Given the description of an element on the screen output the (x, y) to click on. 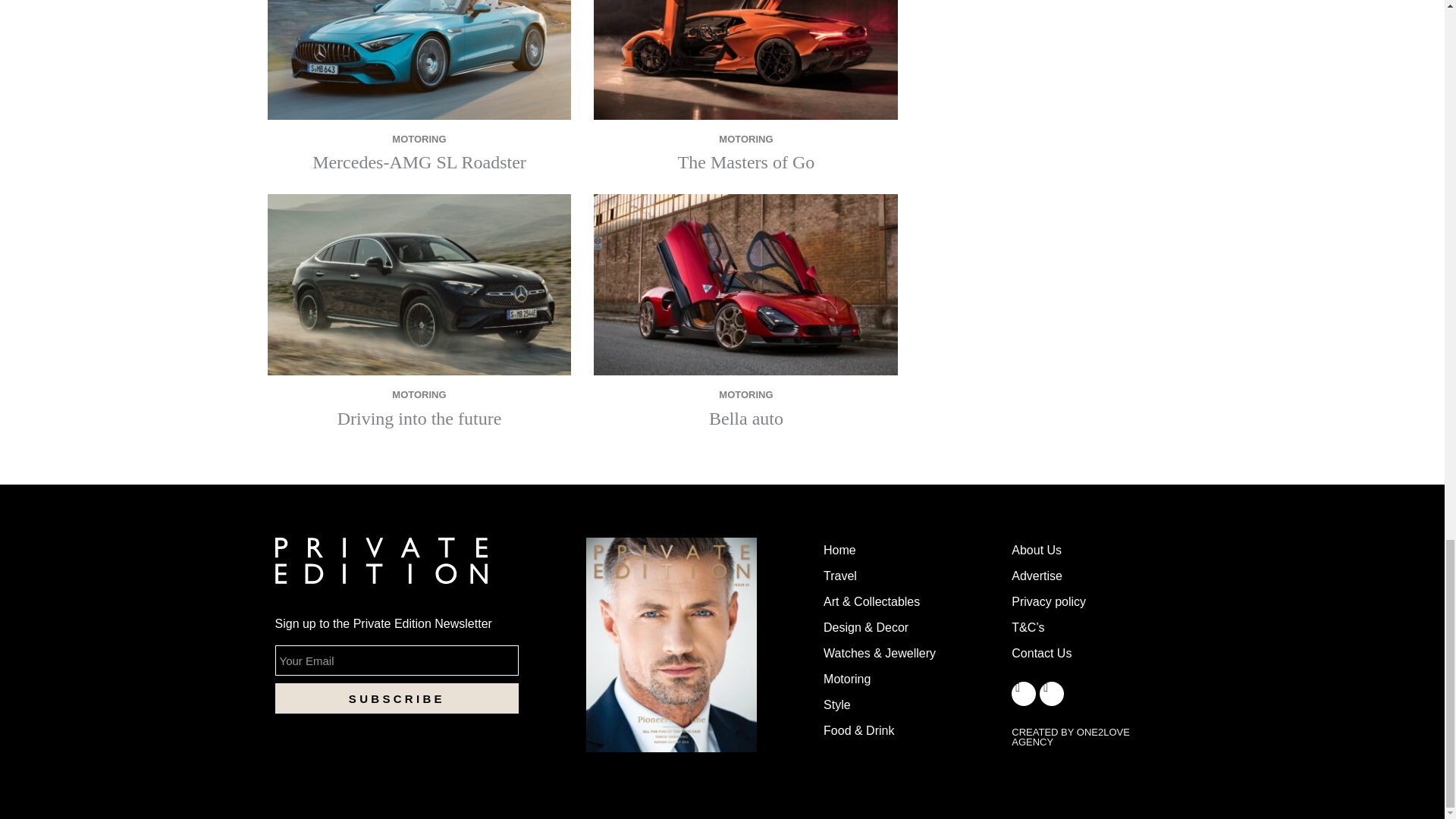
SUBSCRIBE (396, 698)
MOTORING (746, 139)
MOTORING (418, 139)
MOTORING (418, 394)
MOTORING (746, 394)
